Given the description of an element on the screen output the (x, y) to click on. 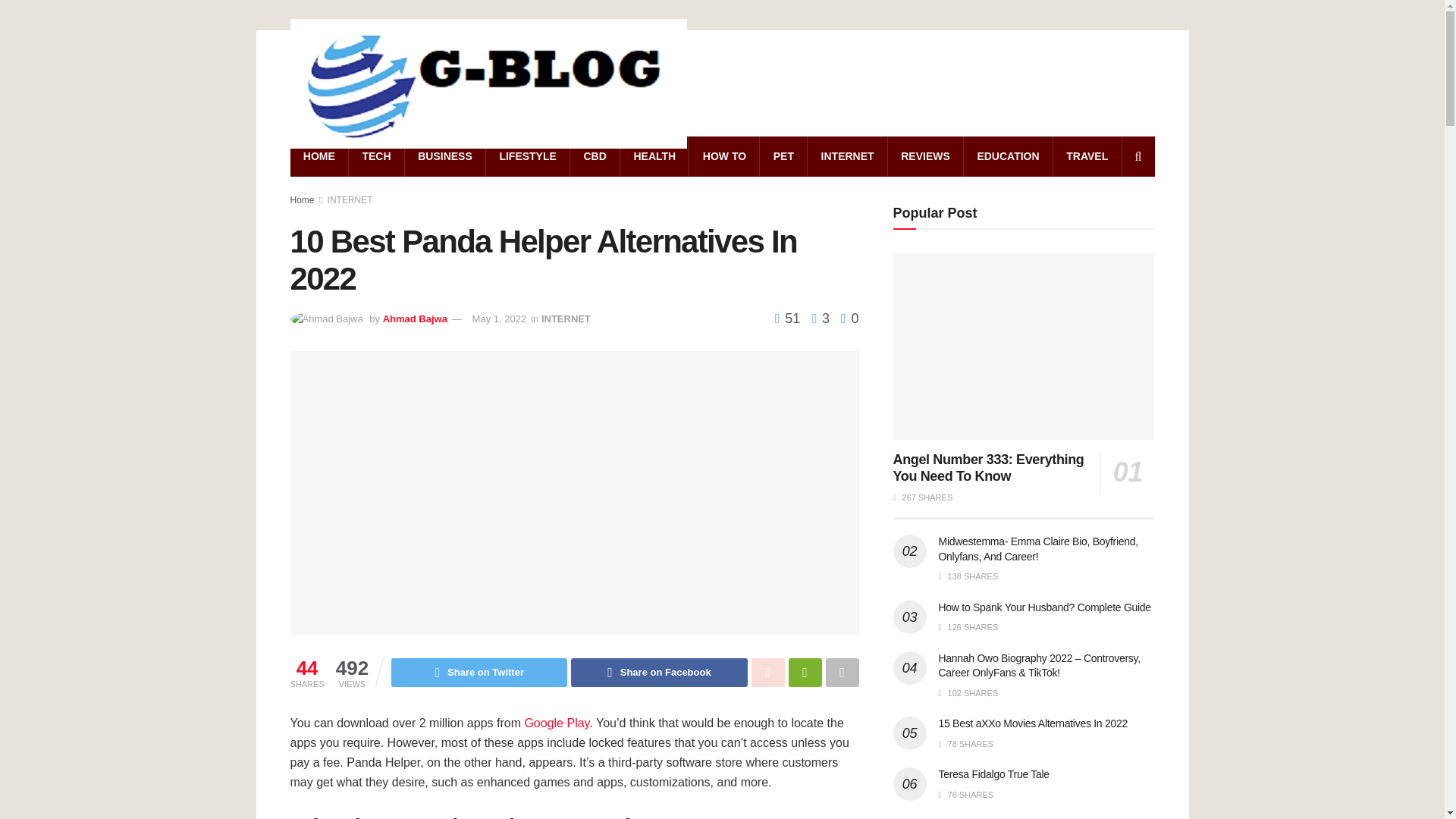
INTERNET (847, 156)
TRAVEL (1086, 156)
EDUCATION (1007, 156)
HEALTH (654, 156)
0 (850, 318)
INTERNET (349, 199)
PET (783, 156)
HOME (318, 156)
HOW TO (723, 156)
Share on Twitter (479, 672)
